Given the description of an element on the screen output the (x, y) to click on. 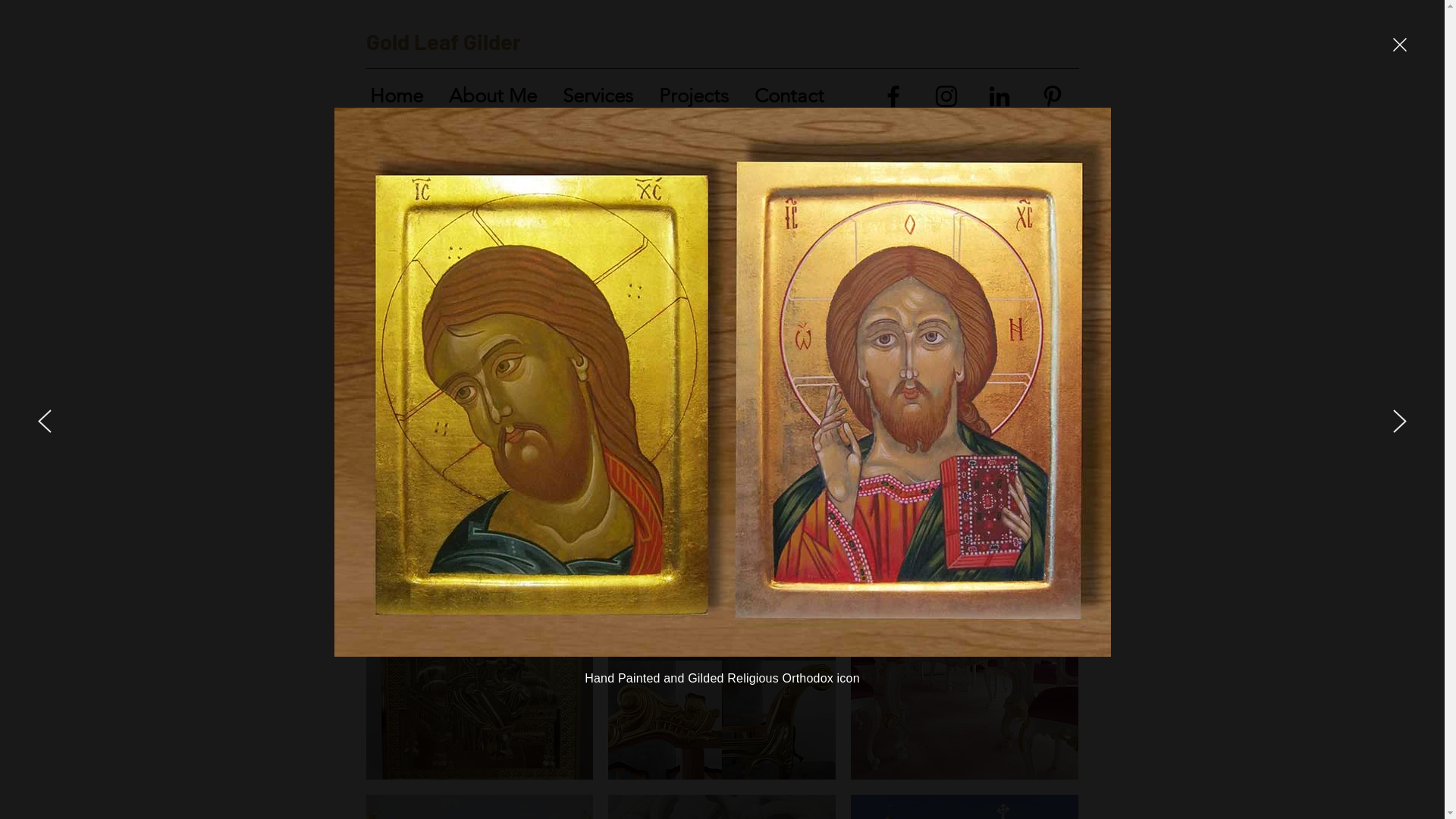
Services Element type: text (603, 95)
Contact Element type: text (793, 95)
About Me Element type: text (498, 95)
Home Element type: text (401, 95)
Gold Leaf Gilder Element type: text (442, 40)
Projects Element type: text (698, 95)
